Given the description of an element on the screen output the (x, y) to click on. 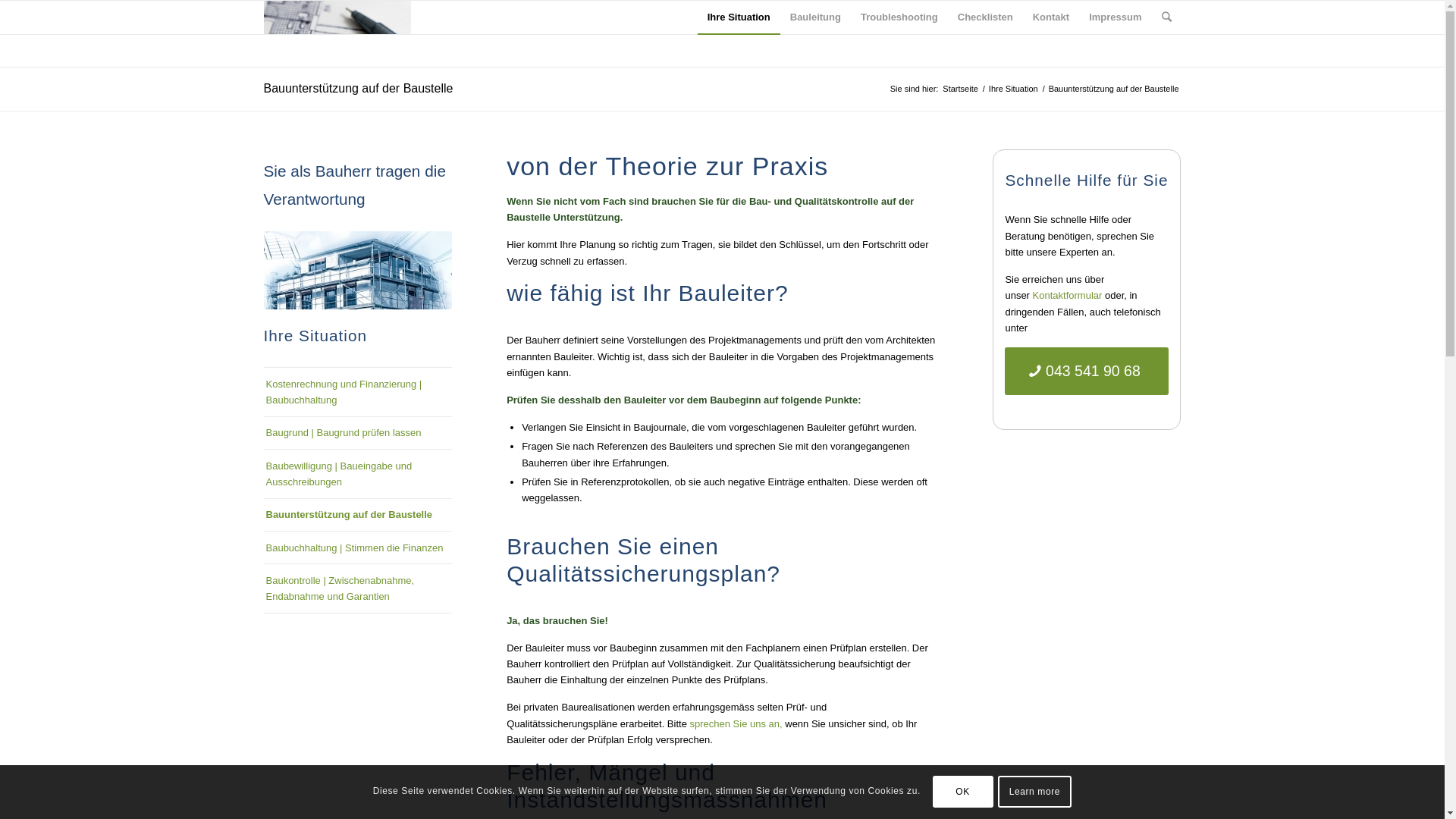
Baukontrolle | Zwischenabnahme, Endabnahme und Garantien Element type: text (357, 588)
Troubleshooting Element type: text (898, 17)
Impressum Element type: text (1115, 17)
Learn more Element type: text (1034, 791)
Ihre Situation Element type: text (1013, 88)
Startseite Element type: text (959, 88)
sprechen Sie uns an, Element type: text (736, 723)
Kostenrechnung und Finanzierung | Baubuchhaltung Element type: text (357, 391)
OK Element type: text (962, 791)
Ihre Situation Element type: text (738, 17)
Baubewilligung | Baueingabe und Ausschreibungen Element type: text (357, 473)
Bauleitung Element type: text (815, 17)
Kontaktformular Element type: text (1067, 295)
043 541 90 68 Element type: text (1086, 371)
Kontakt Element type: text (1050, 17)
Checklisten Element type: text (984, 17)
Baubuchhaltung | Stimmen die Finanzen Element type: text (357, 547)
